Given the description of an element on the screen output the (x, y) to click on. 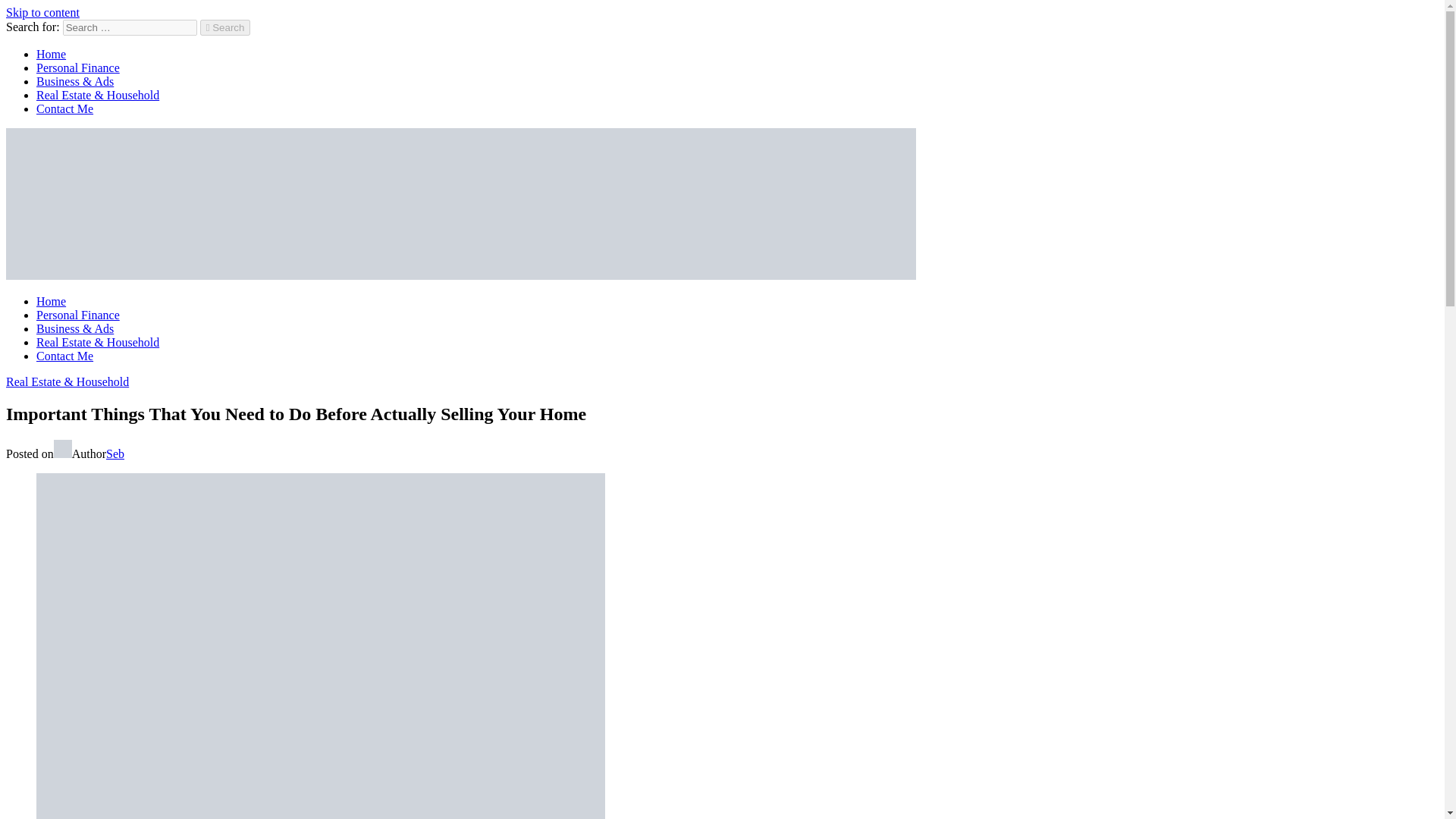
Skip to content (42, 11)
Contact Me (64, 355)
Contact Me (64, 108)
Home (50, 300)
Home (50, 53)
Personal Finance (77, 314)
Seb (114, 453)
Personal Finance (77, 67)
